Given the description of an element on the screen output the (x, y) to click on. 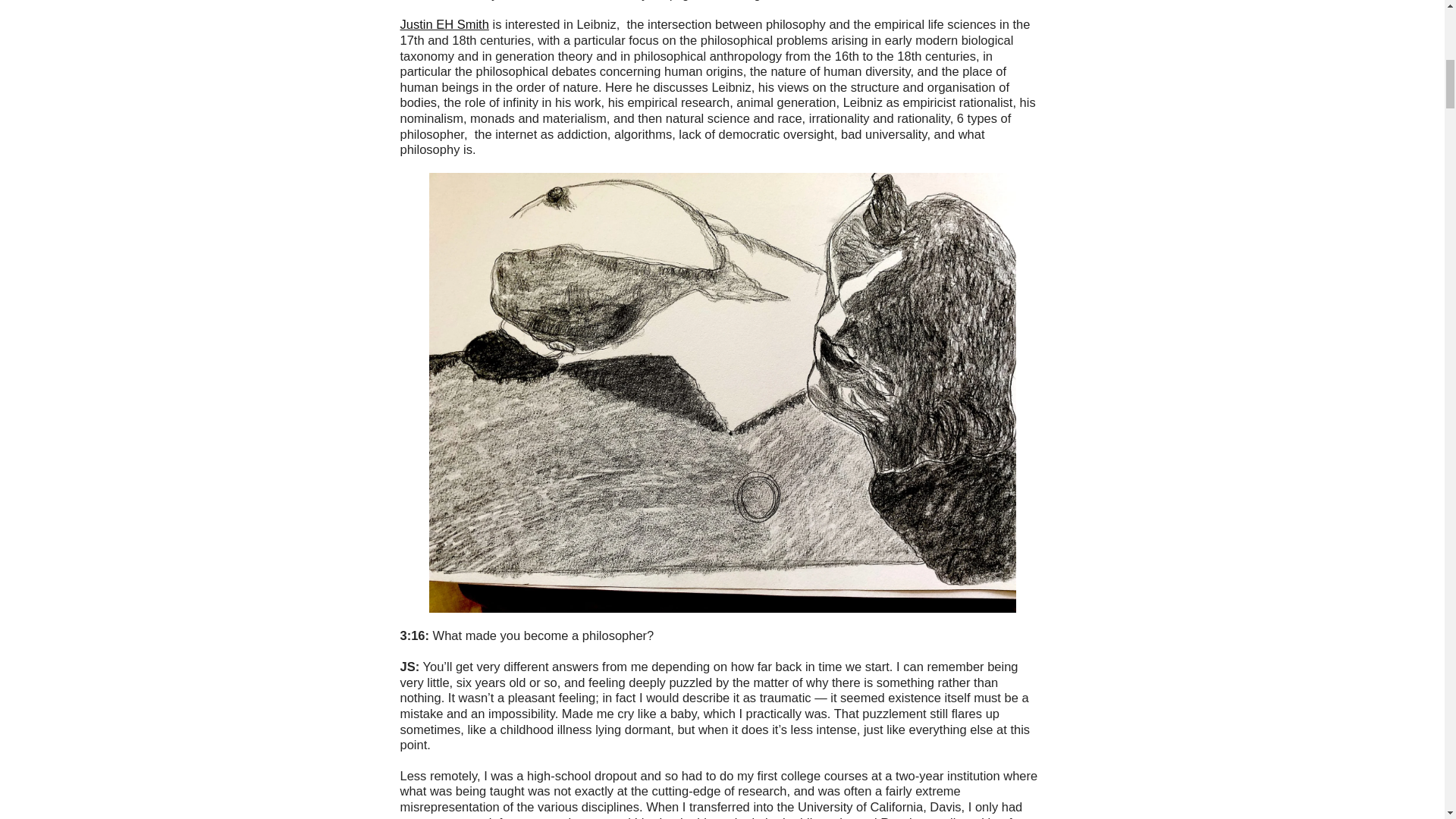
Justin EH Smith (444, 24)
